Given the description of an element on the screen output the (x, y) to click on. 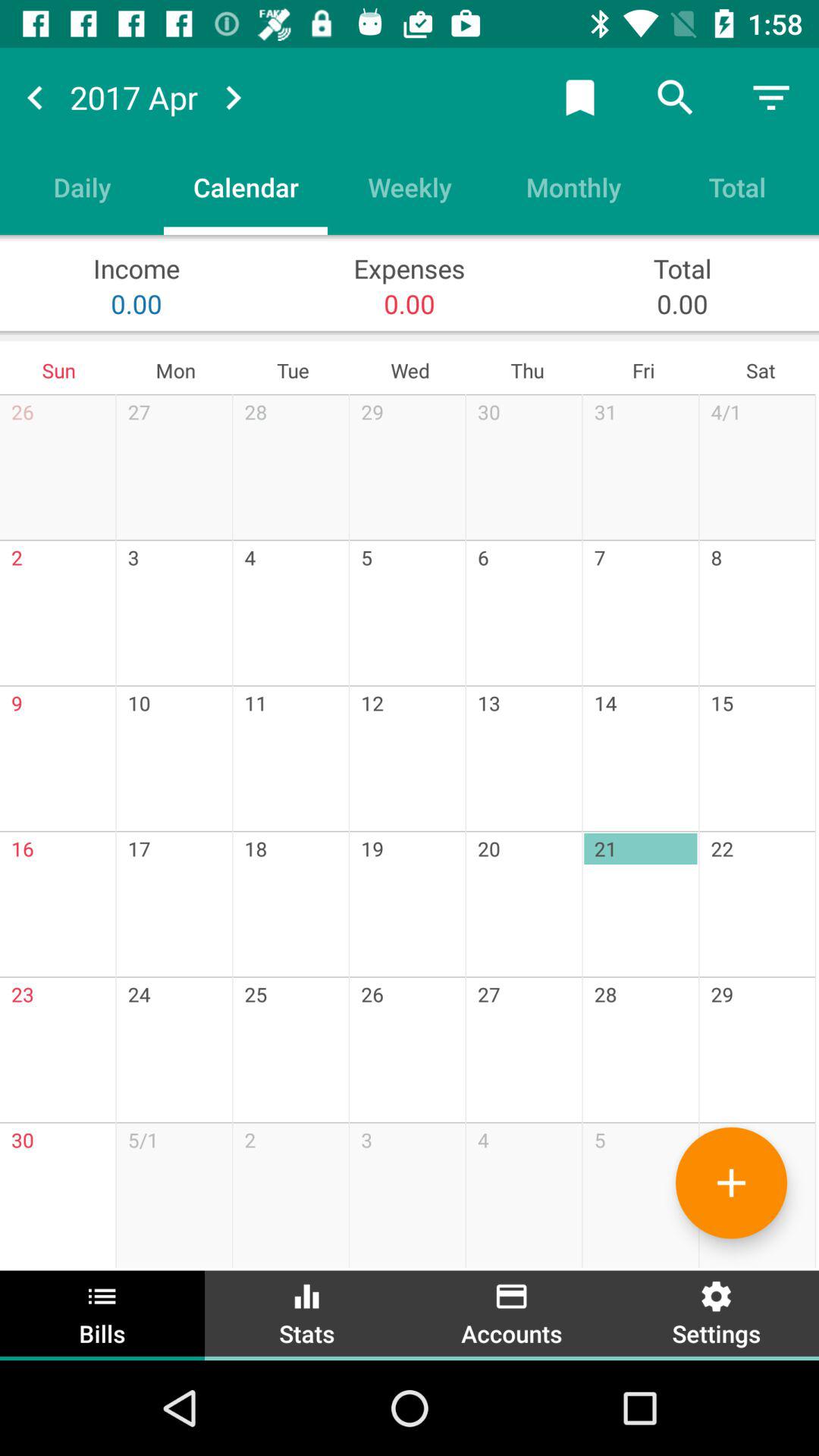
put a savemark (579, 97)
